Given the description of an element on the screen output the (x, y) to click on. 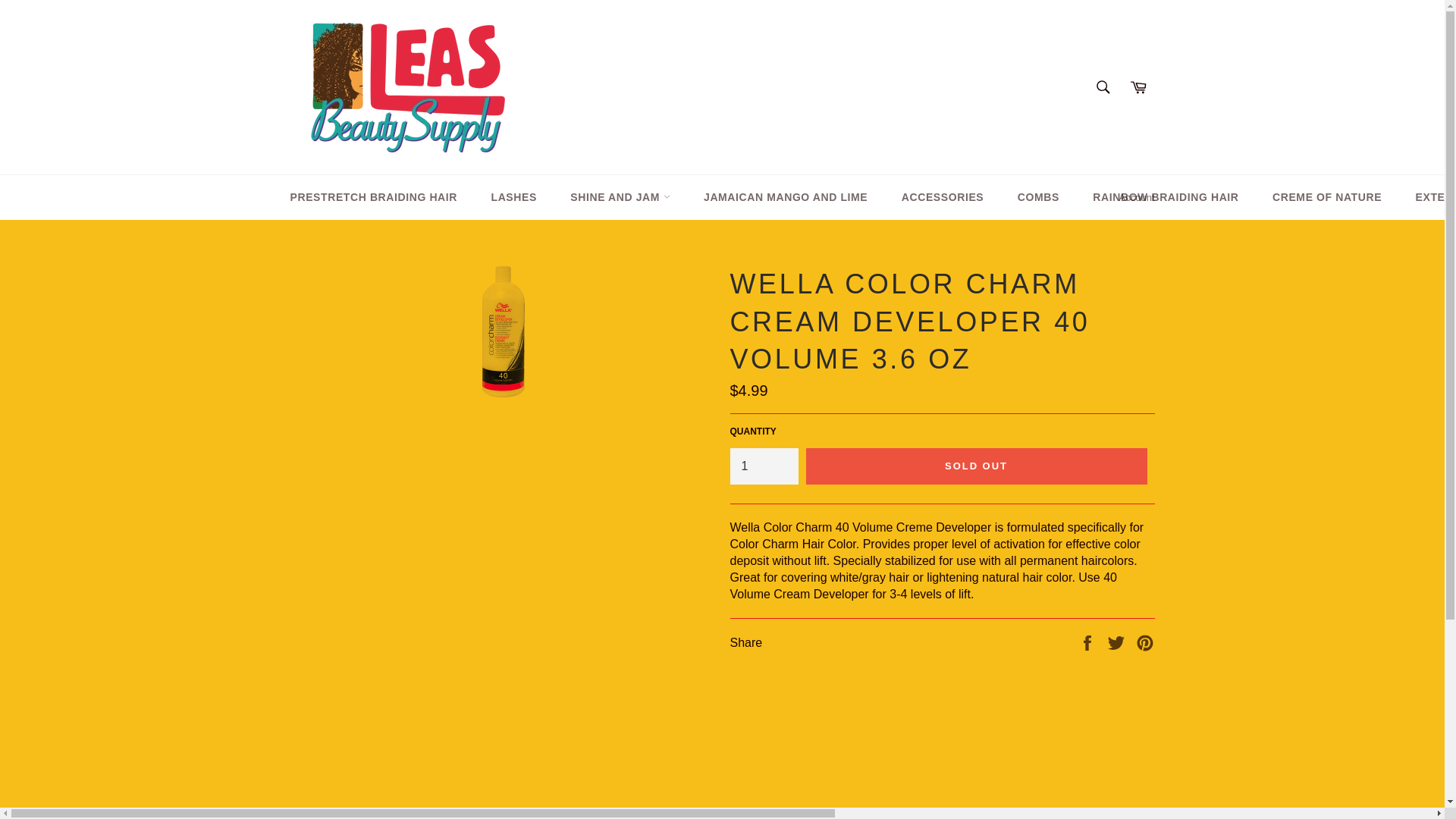
Share on Facebook (1088, 641)
PRESTRETCH BRAIDING HAIR (373, 197)
Search (1103, 87)
Tweet on Twitter (1117, 641)
LASHES (513, 197)
Pin on Pinterest (1144, 641)
JAMAICAN MANGO AND LIME (785, 197)
SHINE AND JAM (619, 197)
1 (763, 465)
Cart (1138, 87)
